Given the description of an element on the screen output the (x, y) to click on. 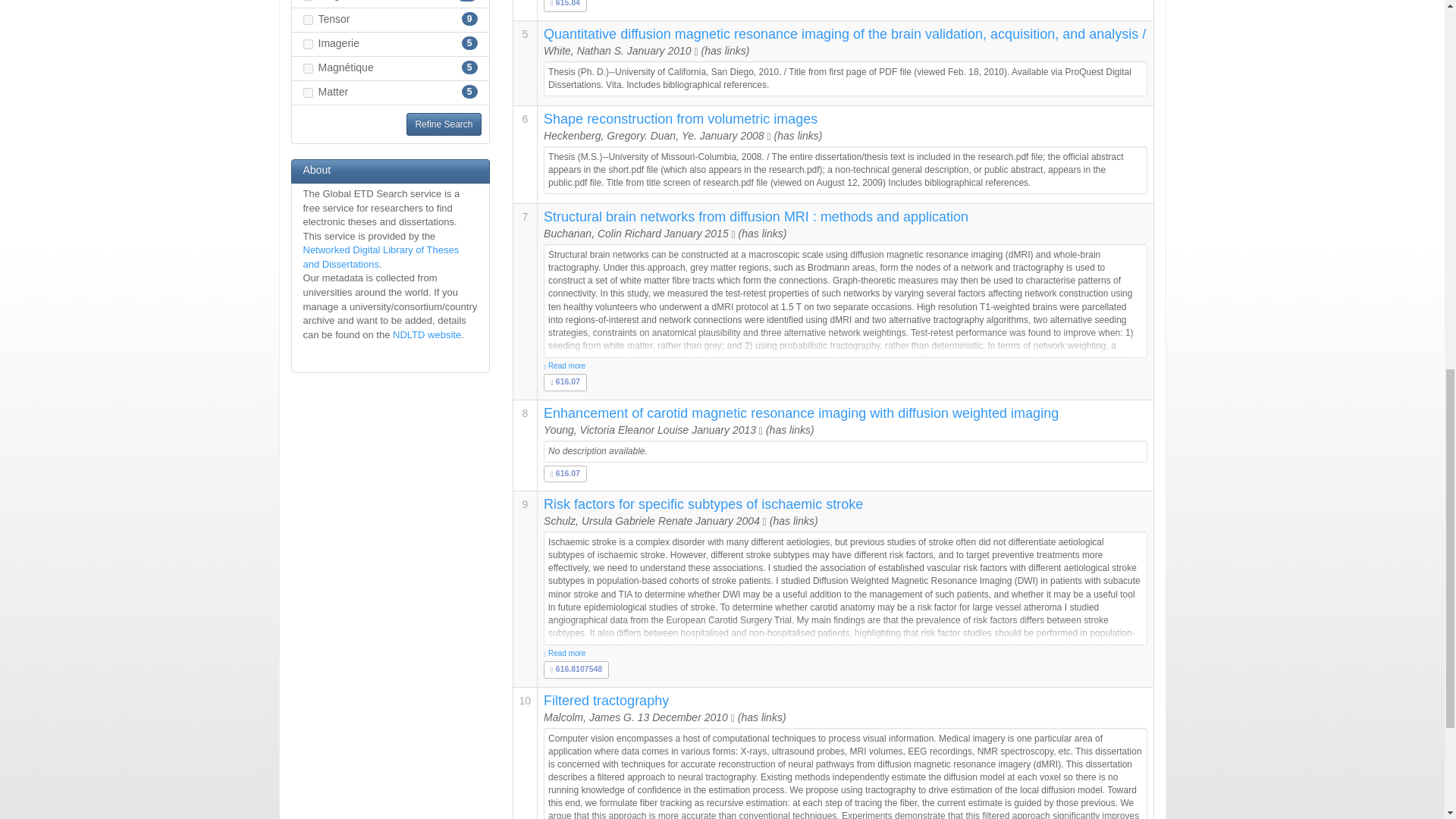
Read more (845, 653)
616.8107548 (576, 668)
616.07 (564, 472)
Shape reconstruction from volumetric images (679, 118)
Read more (845, 366)
Risk factors for specific subtypes of ischaemic stroke (703, 503)
616.07 (564, 380)
Filtered tractography (605, 700)
Refine Search (443, 124)
Networked Digital Library of Theses and Dissertations (381, 257)
615.84 (564, 3)
NDLTD website (427, 334)
